Given the description of an element on the screen output the (x, y) to click on. 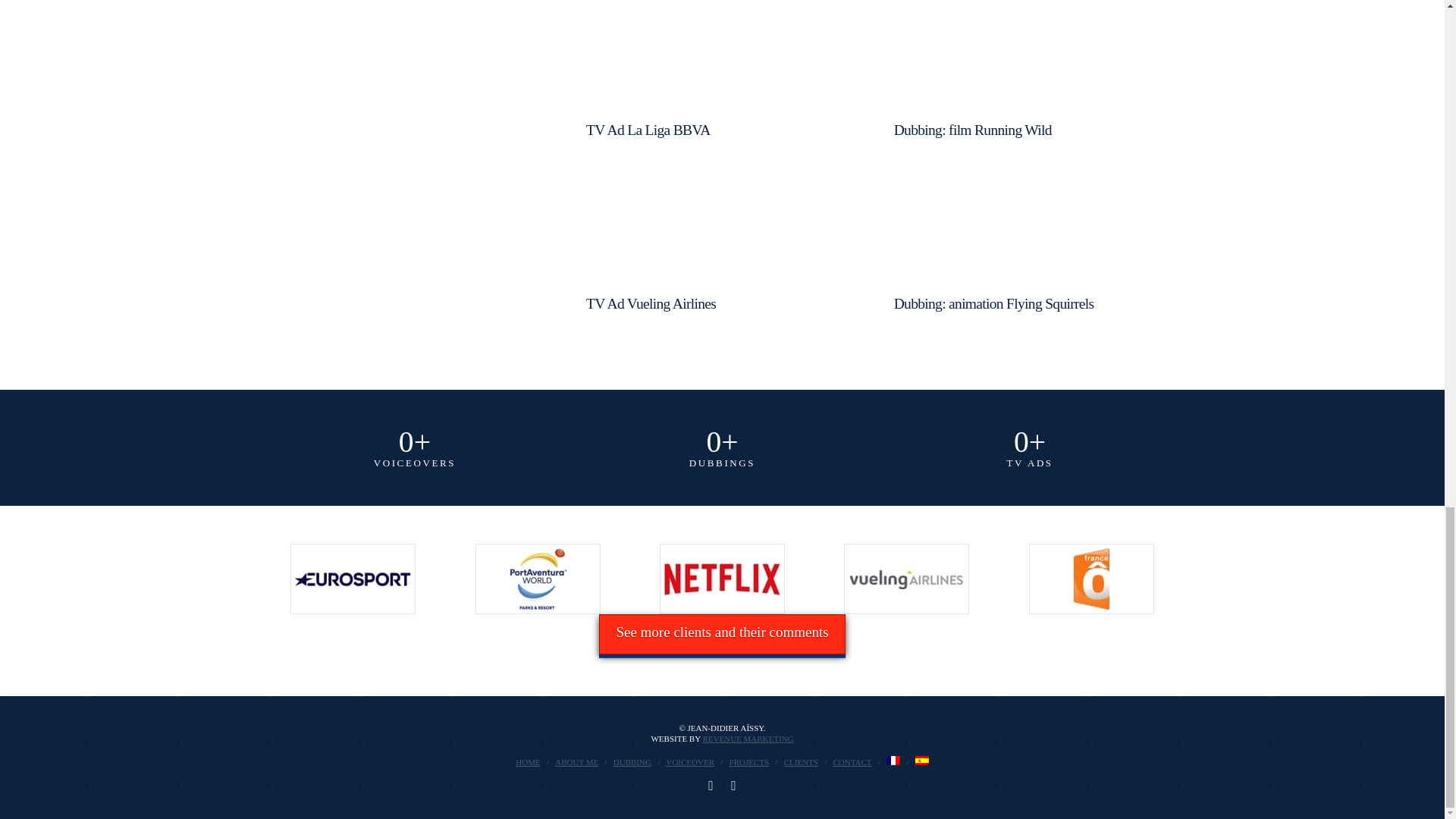
PROJECTS (749, 761)
CLIENTS (801, 761)
VOICEOVER (689, 761)
HOME (527, 761)
See more clients and their comments (721, 634)
CONTACT (851, 761)
ABOUT ME (576, 761)
DUBBING (631, 761)
REVENUE MARKETING (747, 737)
Revenue Marketing Global (747, 737)
